Given the description of an element on the screen output the (x, y) to click on. 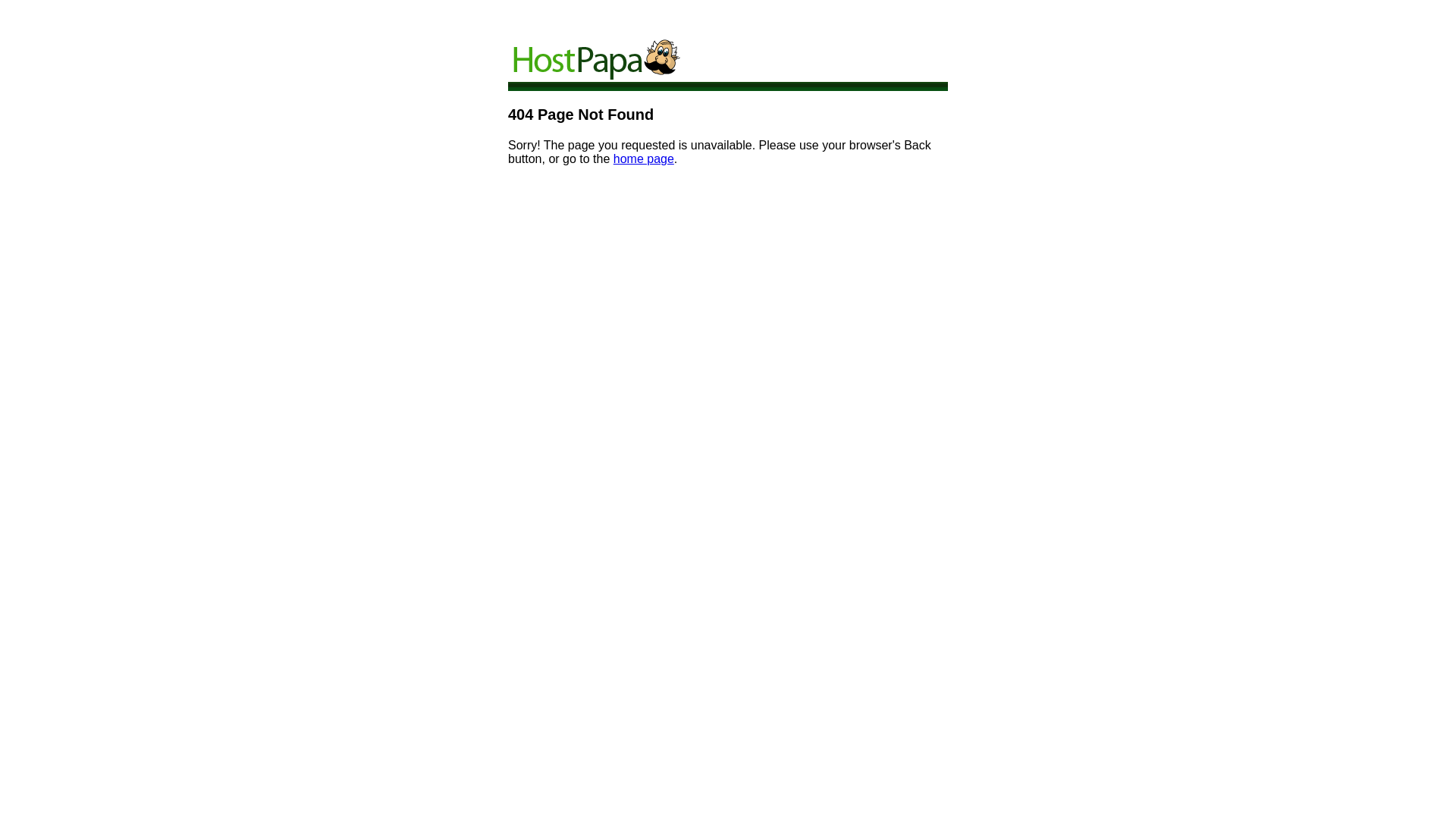
home page Element type: text (643, 158)
